Given the description of an element on the screen output the (x, y) to click on. 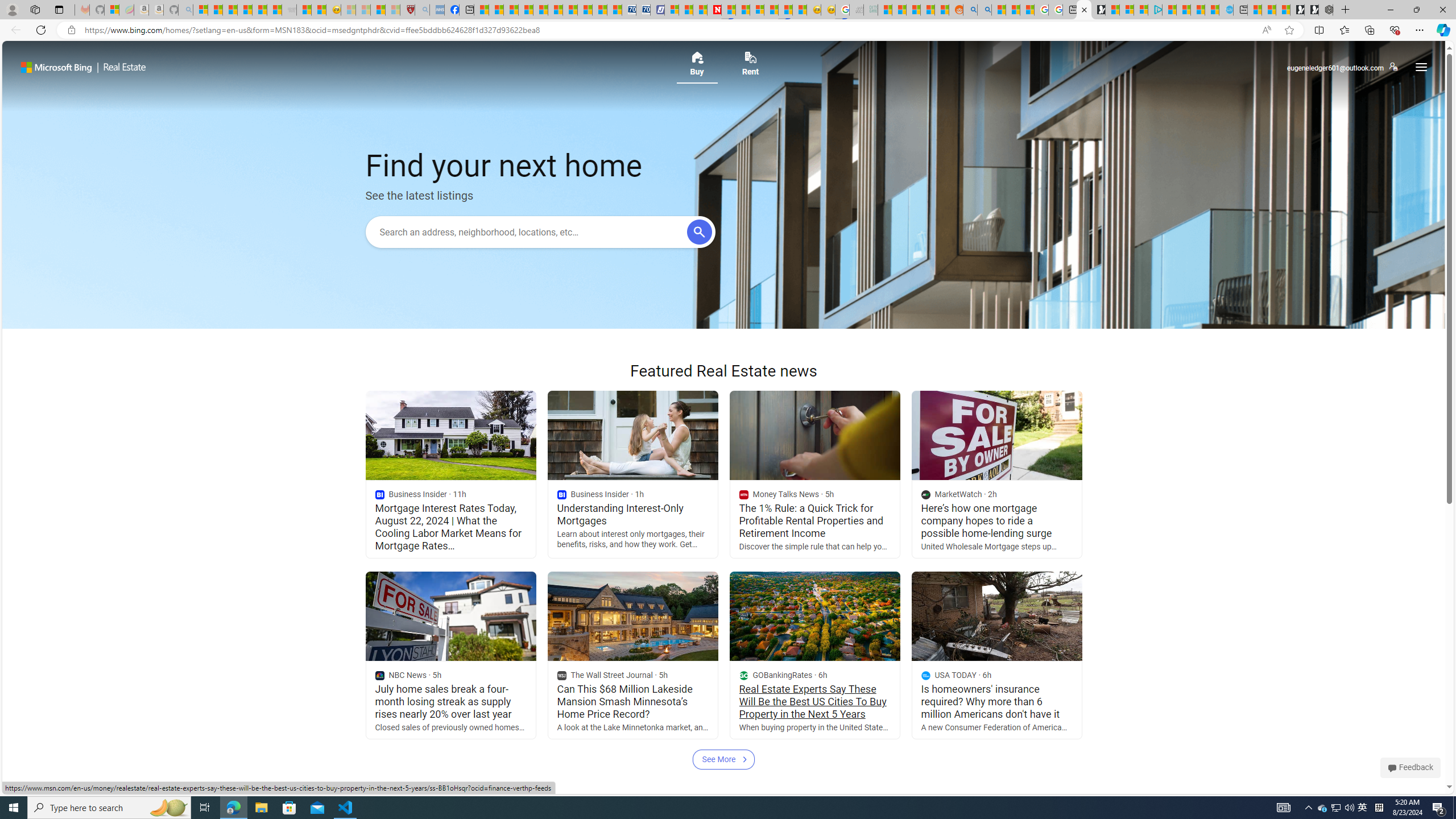
Home | Sky Blue Bikes - Sky Blue Bikes (1225, 9)
12 Popular Science Lies that Must be Corrected - Sleeping (392, 9)
Student Loan Update: Forgiveness Program Ends This Month (927, 9)
14 Common Myths Debunked By Scientific Facts (742, 9)
Utah sues federal government - Search (983, 9)
